Given the description of an element on the screen output the (x, y) to click on. 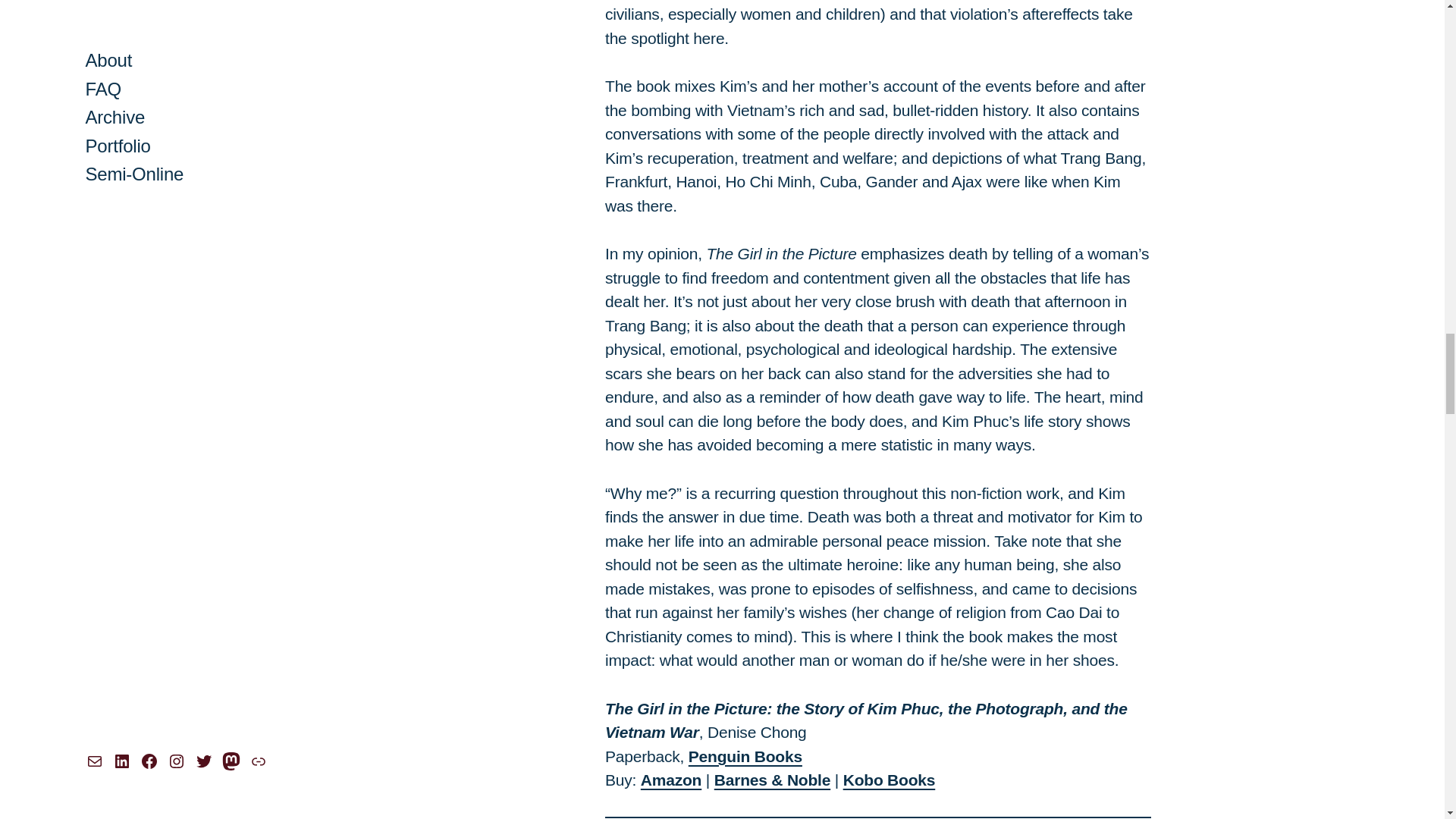
Penguin Books (745, 755)
Kobo Books (889, 779)
Amazon (670, 779)
